Given the description of an element on the screen output the (x, y) to click on. 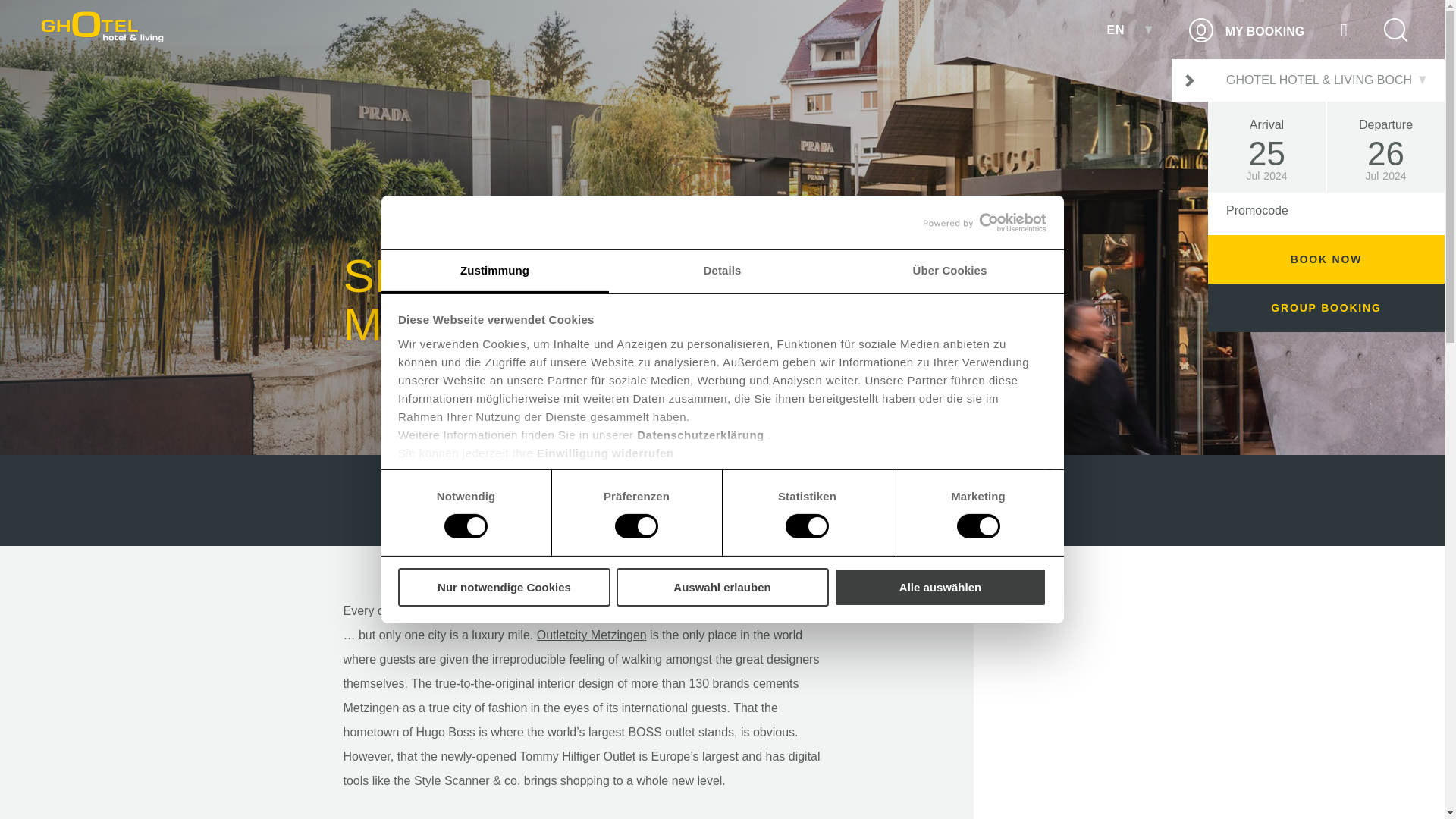
My Cart (1344, 30)
Einwilligung widerrufen (605, 452)
BOOKING (1190, 79)
Hotels (418, 500)
Open search (1395, 30)
MY BOOKING (1246, 30)
Details (721, 271)
Zustimmung (494, 271)
Open search (1395, 30)
My booking (1246, 30)
